Given the description of an element on the screen output the (x, y) to click on. 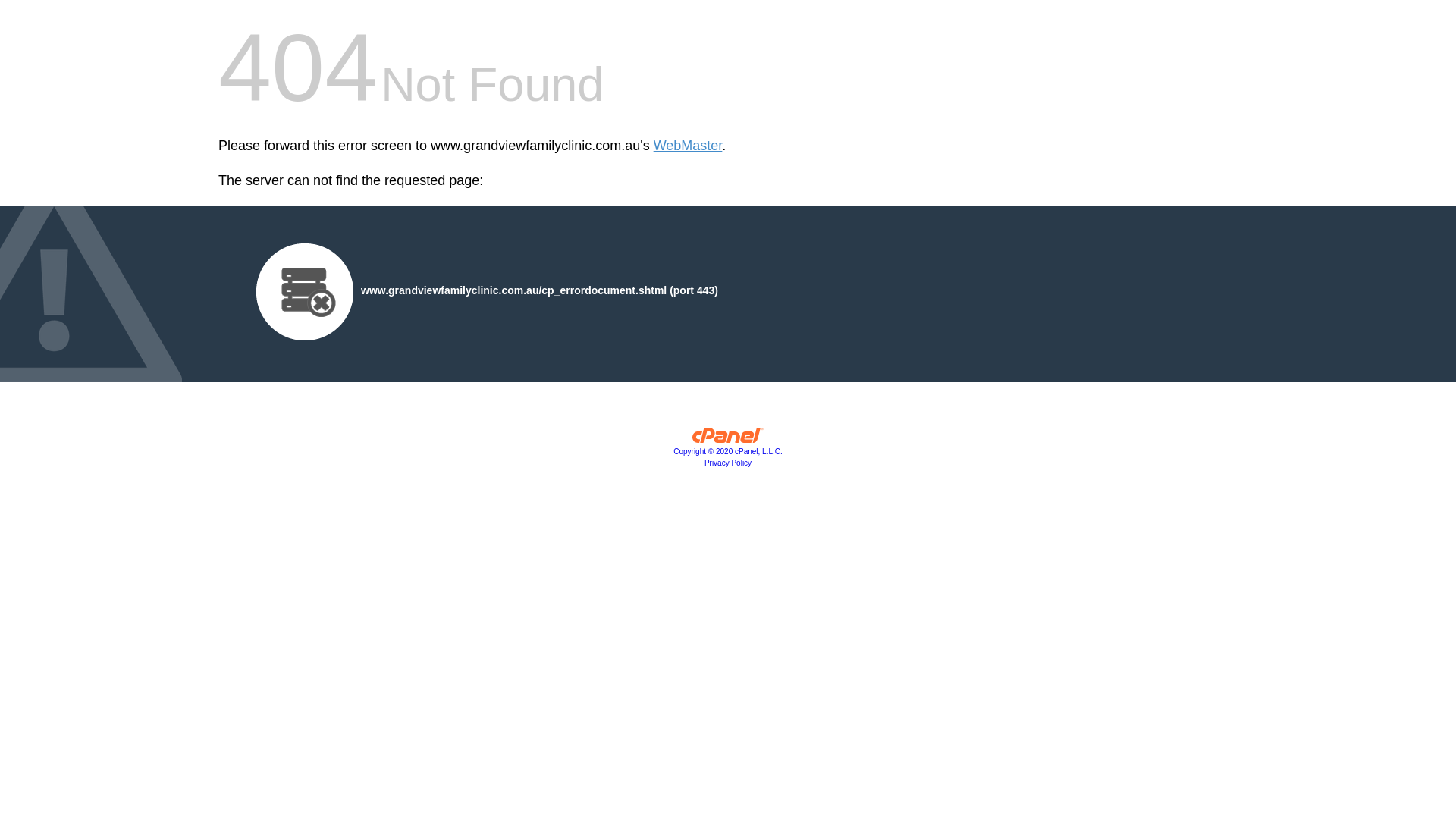
cPanel, Inc. Element type: hover (728, 439)
WebMaster Element type: text (687, 145)
Privacy Policy Element type: text (727, 462)
